Given the description of an element on the screen output the (x, y) to click on. 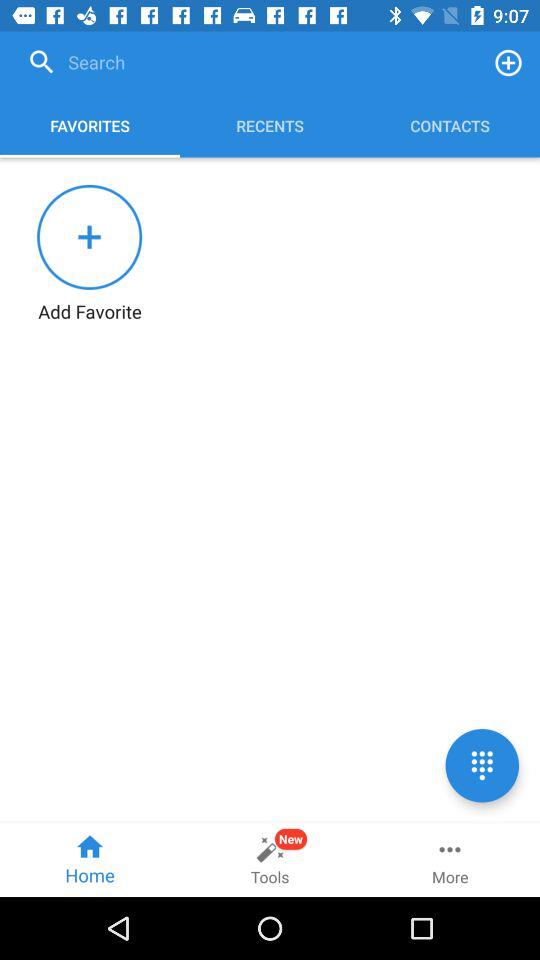
turn on icon below the contacts icon (482, 765)
